Given the description of an element on the screen output the (x, y) to click on. 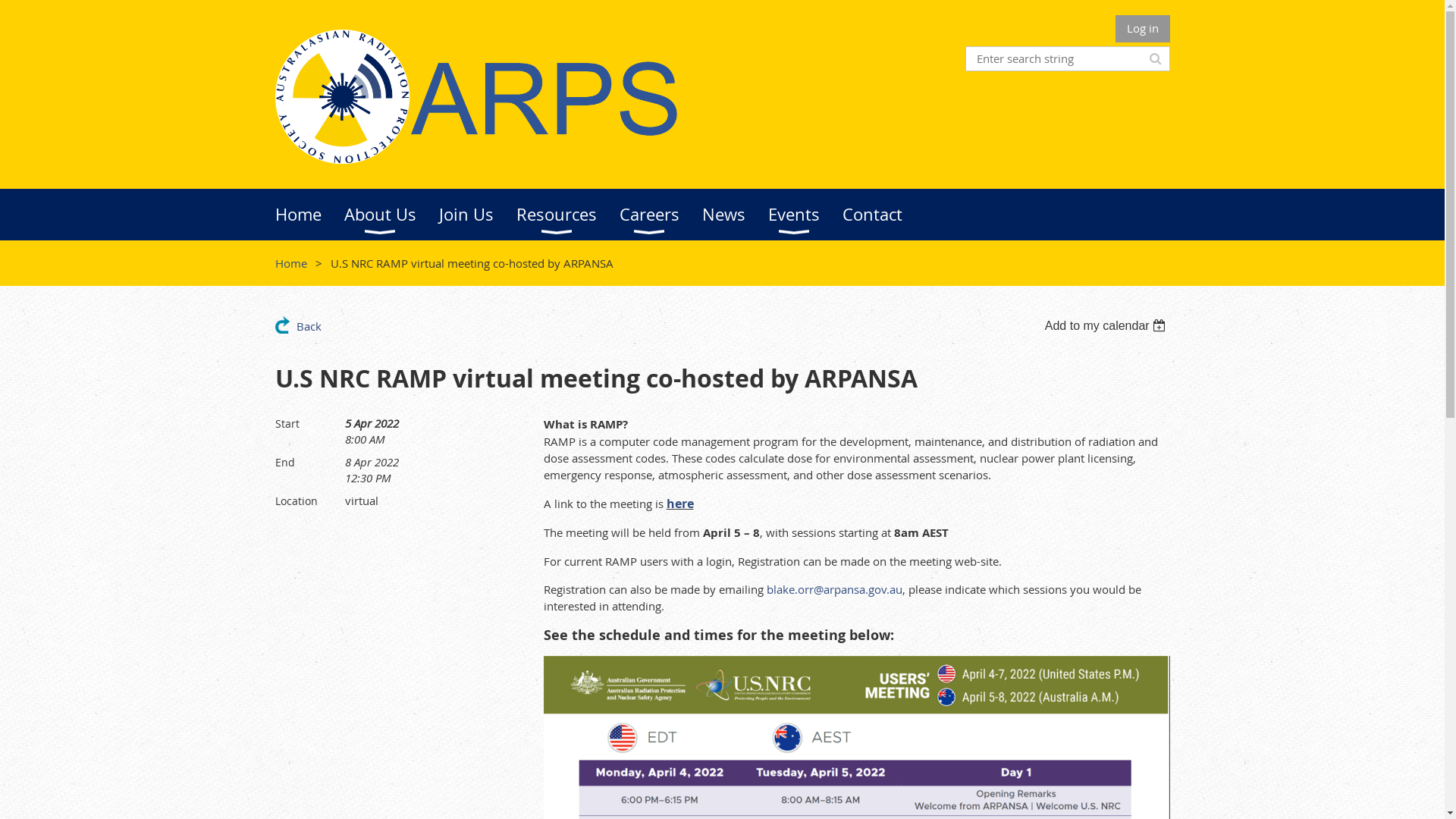
blake.orr@arpansa.gov.au Element type: text (833, 588)
Contact Element type: text (882, 214)
News Element type: text (735, 214)
Careers Element type: text (659, 214)
Resources Element type: text (566, 214)
here Element type: text (679, 503)
Events Element type: text (804, 214)
Home Element type: text (290, 262)
About Us Element type: text (391, 214)
Back Element type: text (297, 324)
Home Element type: text (308, 214)
Log in Element type: text (1141, 28)
Join Us Element type: text (476, 214)
